Given the description of an element on the screen output the (x, y) to click on. 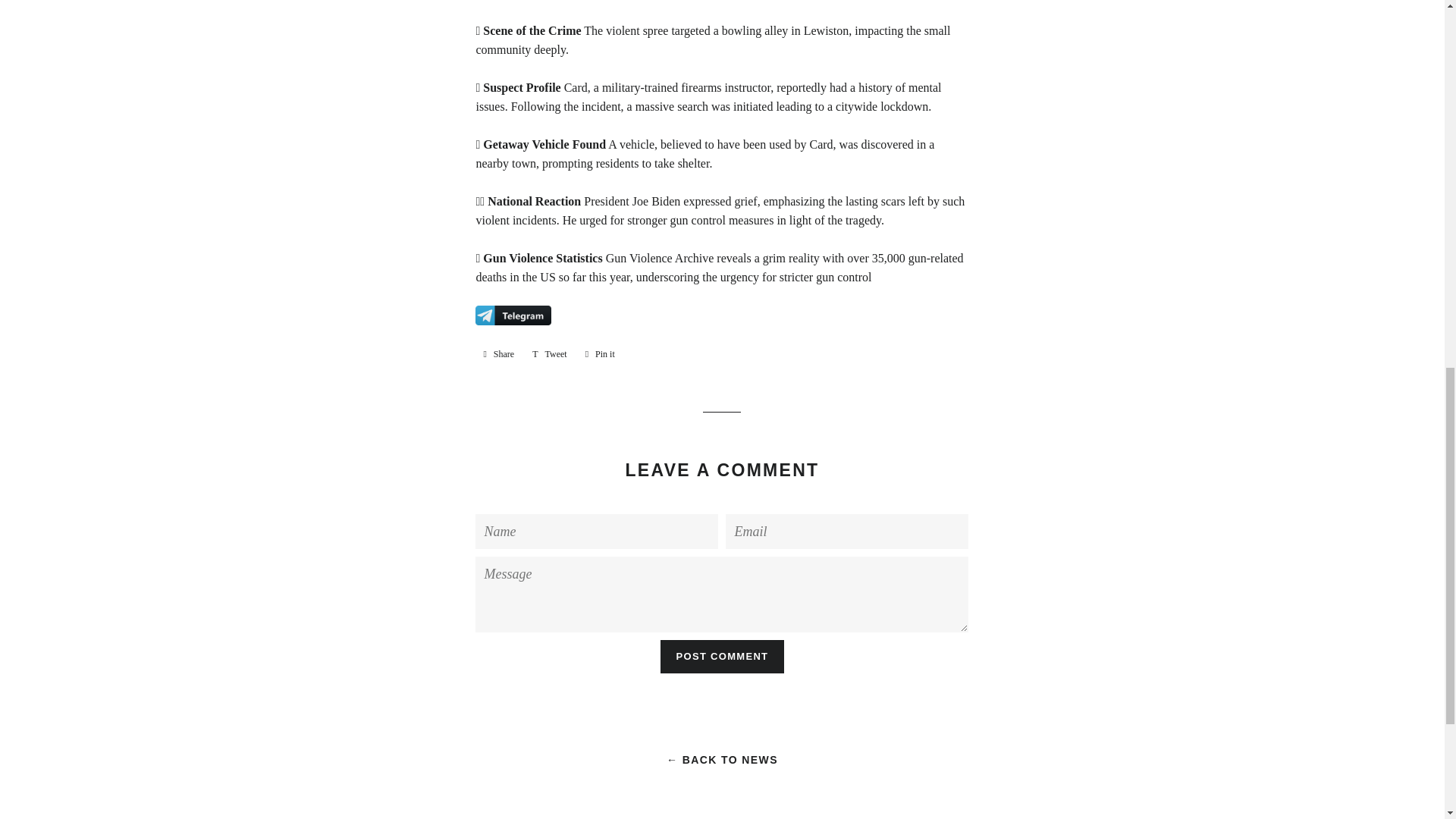
Share on Facebook (498, 353)
Post comment (549, 353)
Post comment (498, 353)
Tweet on Twitter (722, 656)
Pin on Pinterest (722, 656)
